Given the description of an element on the screen output the (x, y) to click on. 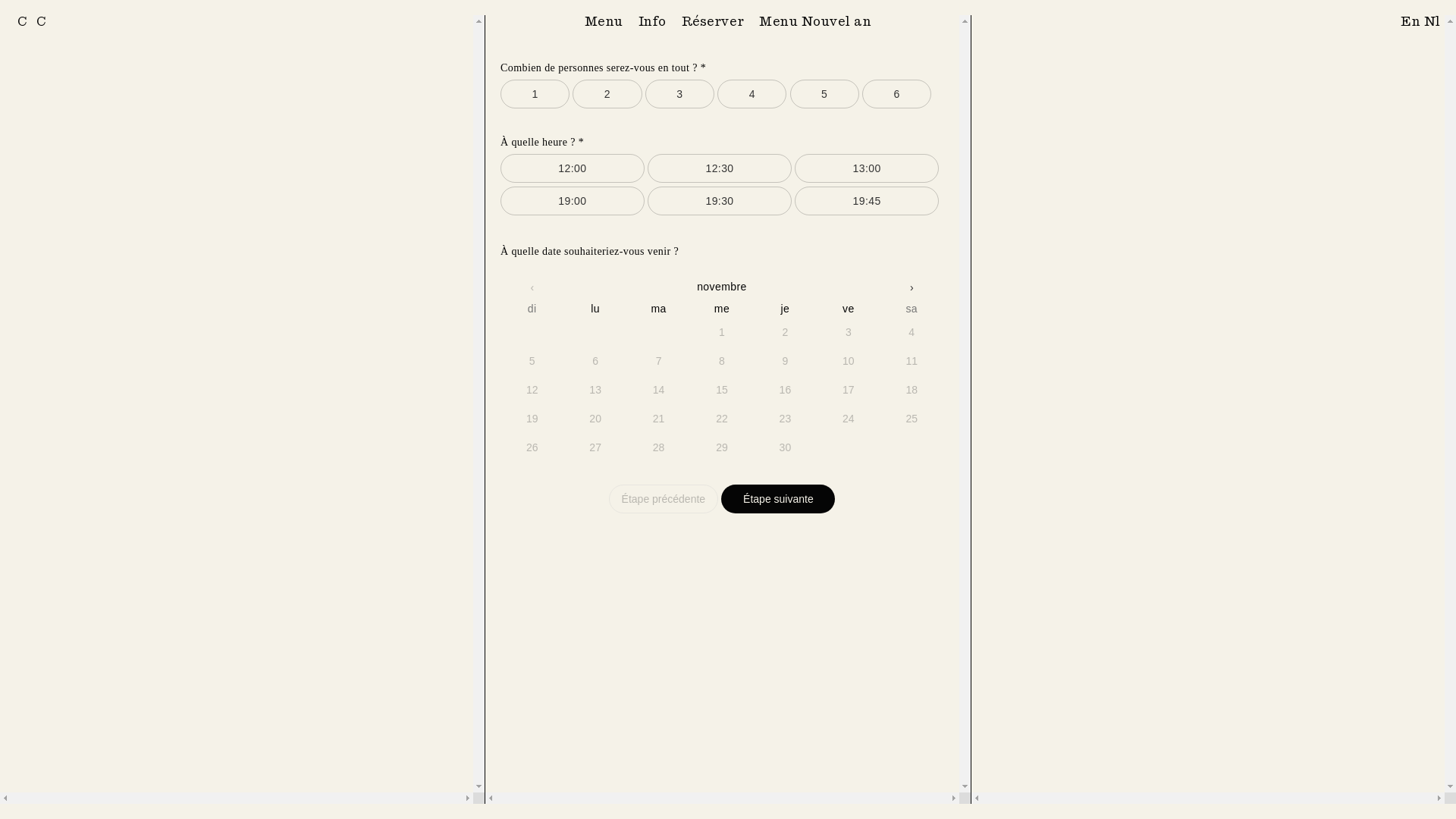
C
C Element type: text (31, 24)
Info Element type: text (652, 21)
Nl Element type: text (1432, 21)
En Element type: text (1412, 21)
Menu Element type: text (603, 21)
Menu Nouvel an Element type: text (814, 21)
